Given the description of an element on the screen output the (x, y) to click on. 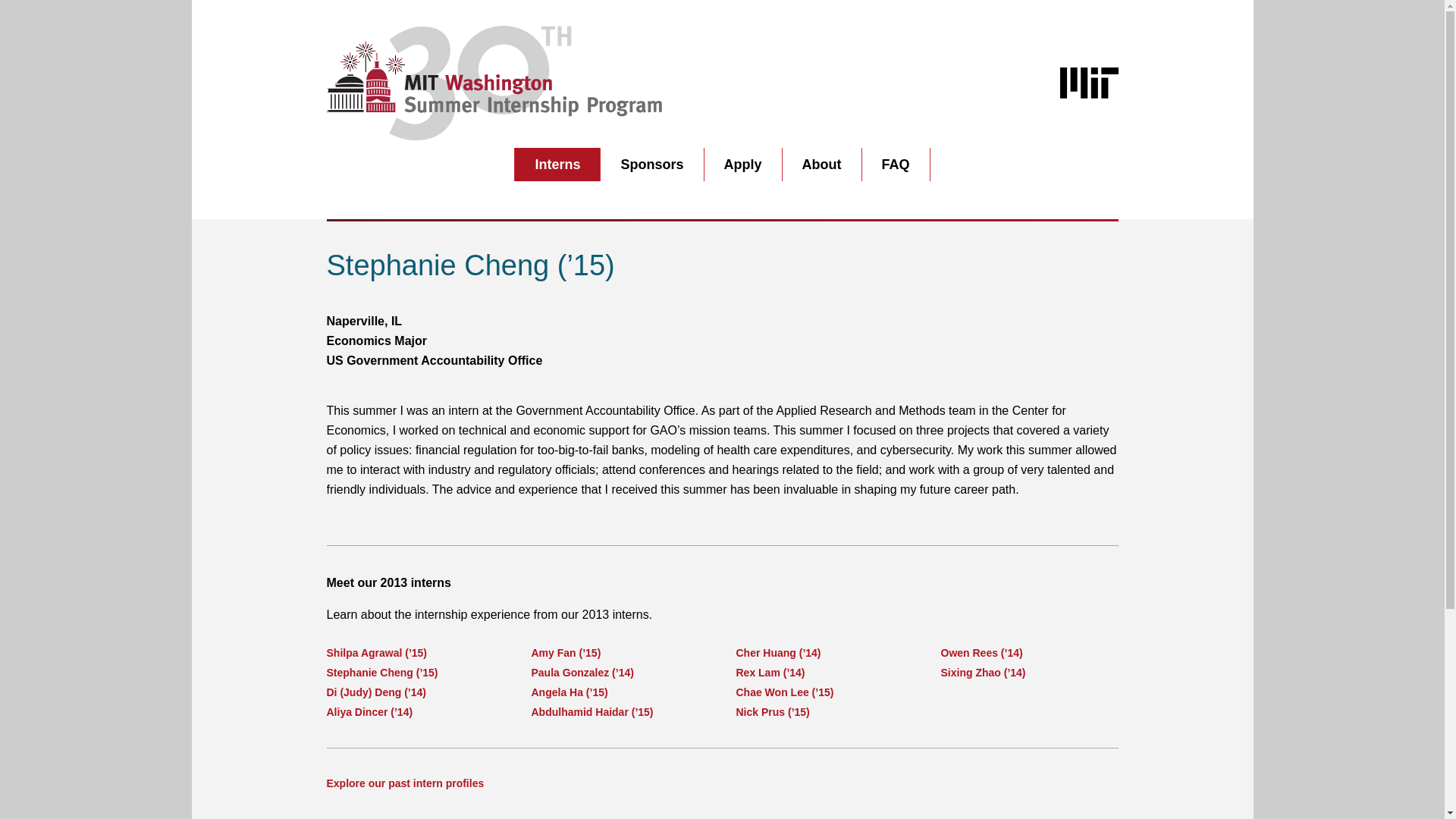
Explore our past intern profiles (404, 783)
MIT Washington Summer Internship home (493, 82)
About (822, 164)
Interns (557, 164)
Sponsors (651, 164)
FAQ (894, 164)
Apply (741, 164)
MIT home (1088, 82)
